Given the description of an element on the screen output the (x, y) to click on. 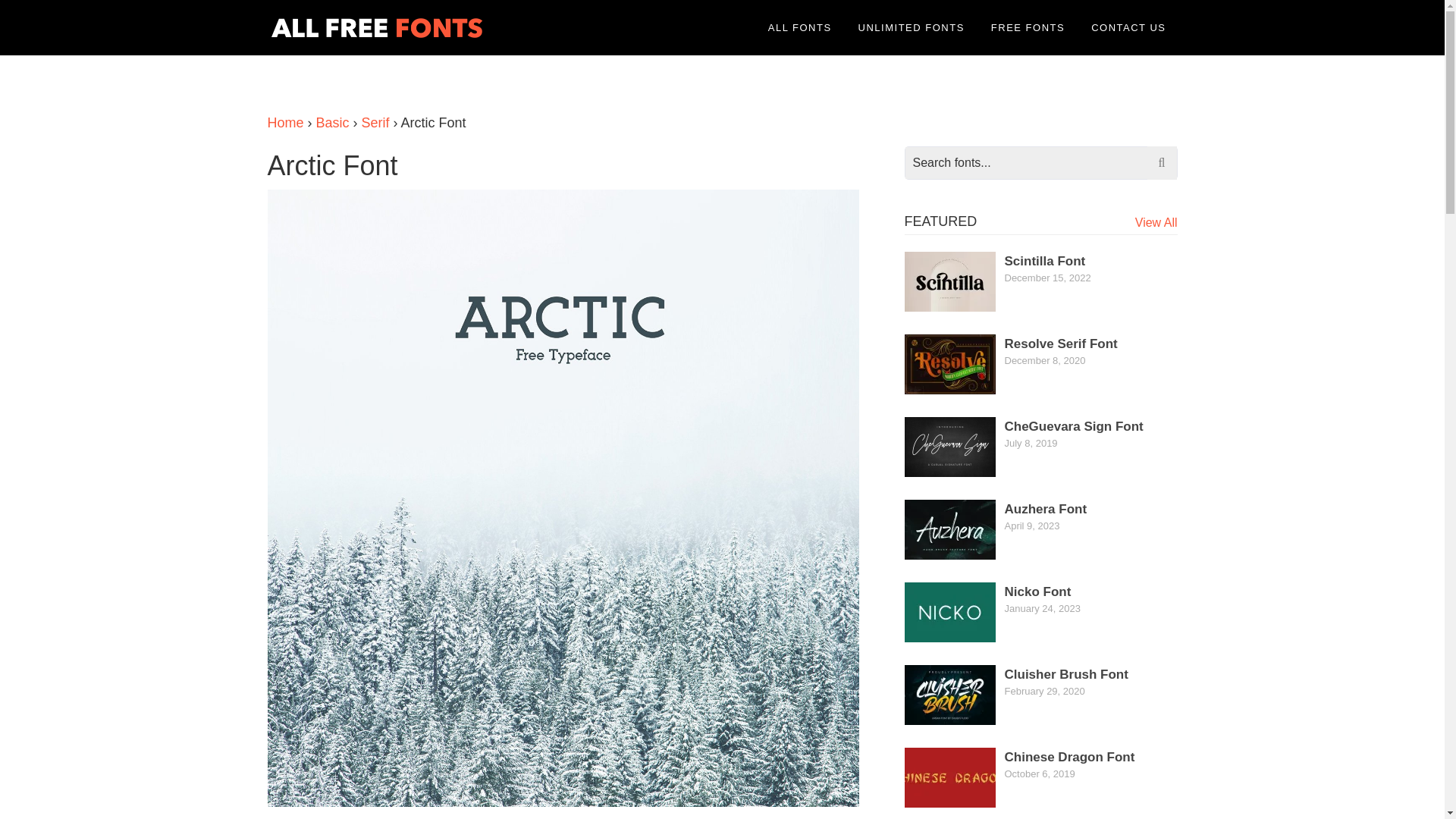
Home (284, 122)
Basic (332, 122)
ALL FONTS (800, 27)
CONTACT US (1128, 27)
UNLIMITED FONTS (911, 27)
FREE FONTS (1027, 27)
Serif (375, 122)
